Given the description of an element on the screen output the (x, y) to click on. 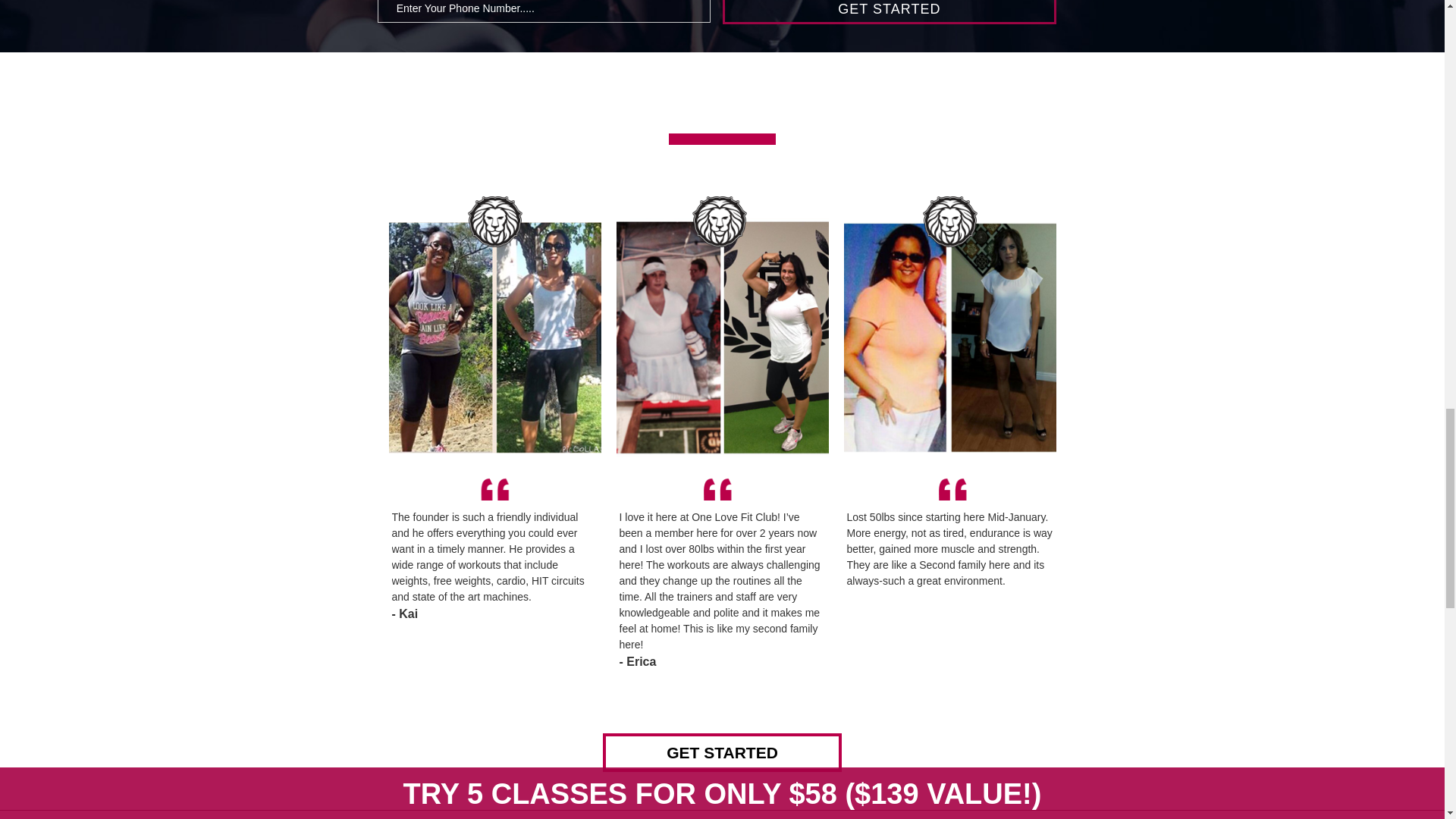
GET STARTED (889, 12)
GET STARTED (721, 752)
GET STARTED (889, 12)
